Given the description of an element on the screen output the (x, y) to click on. 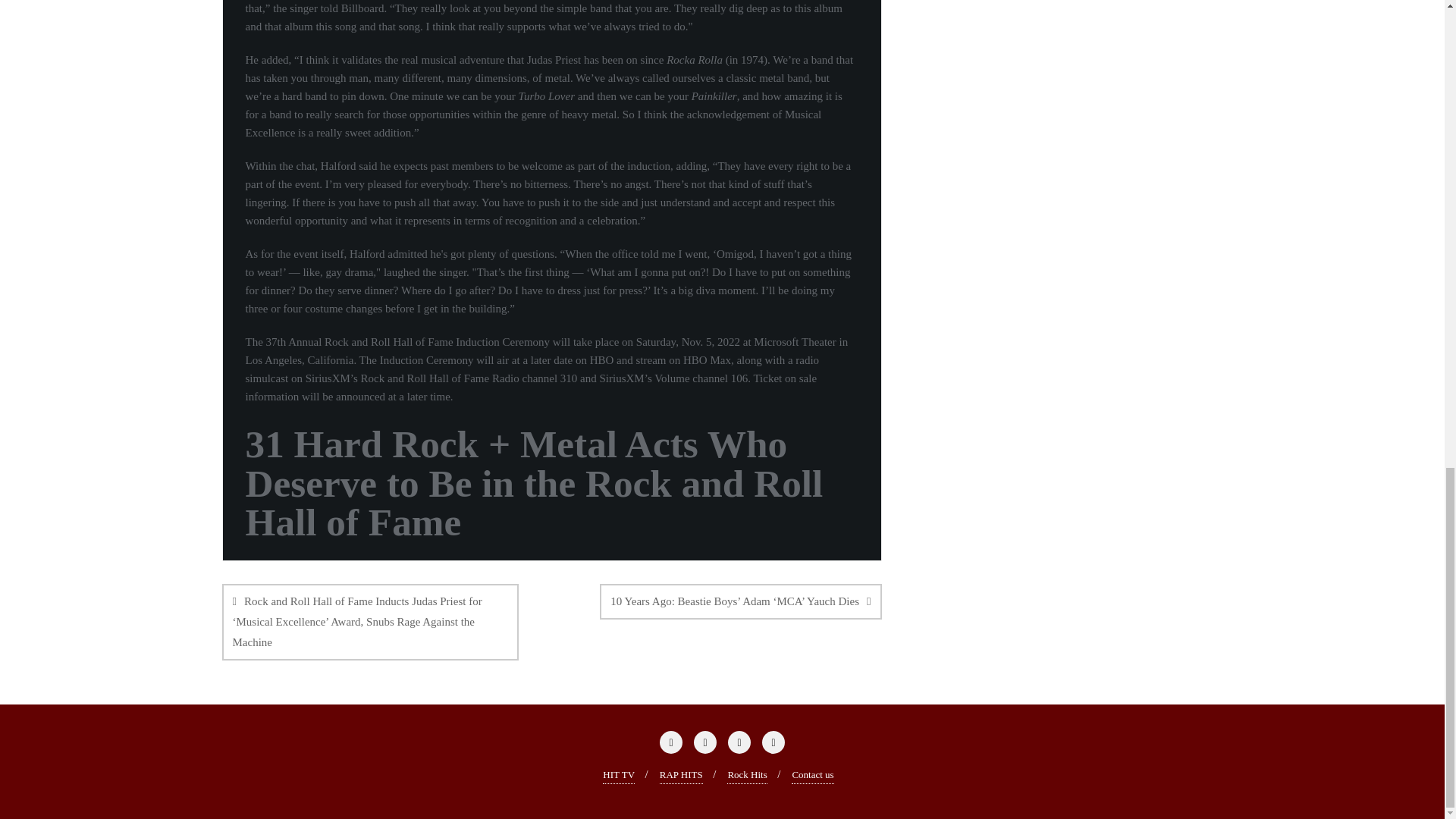
Rock Hits (746, 774)
Contact us (812, 774)
RAP HITS (681, 774)
HIT TV (618, 774)
